Given the description of an element on the screen output the (x, y) to click on. 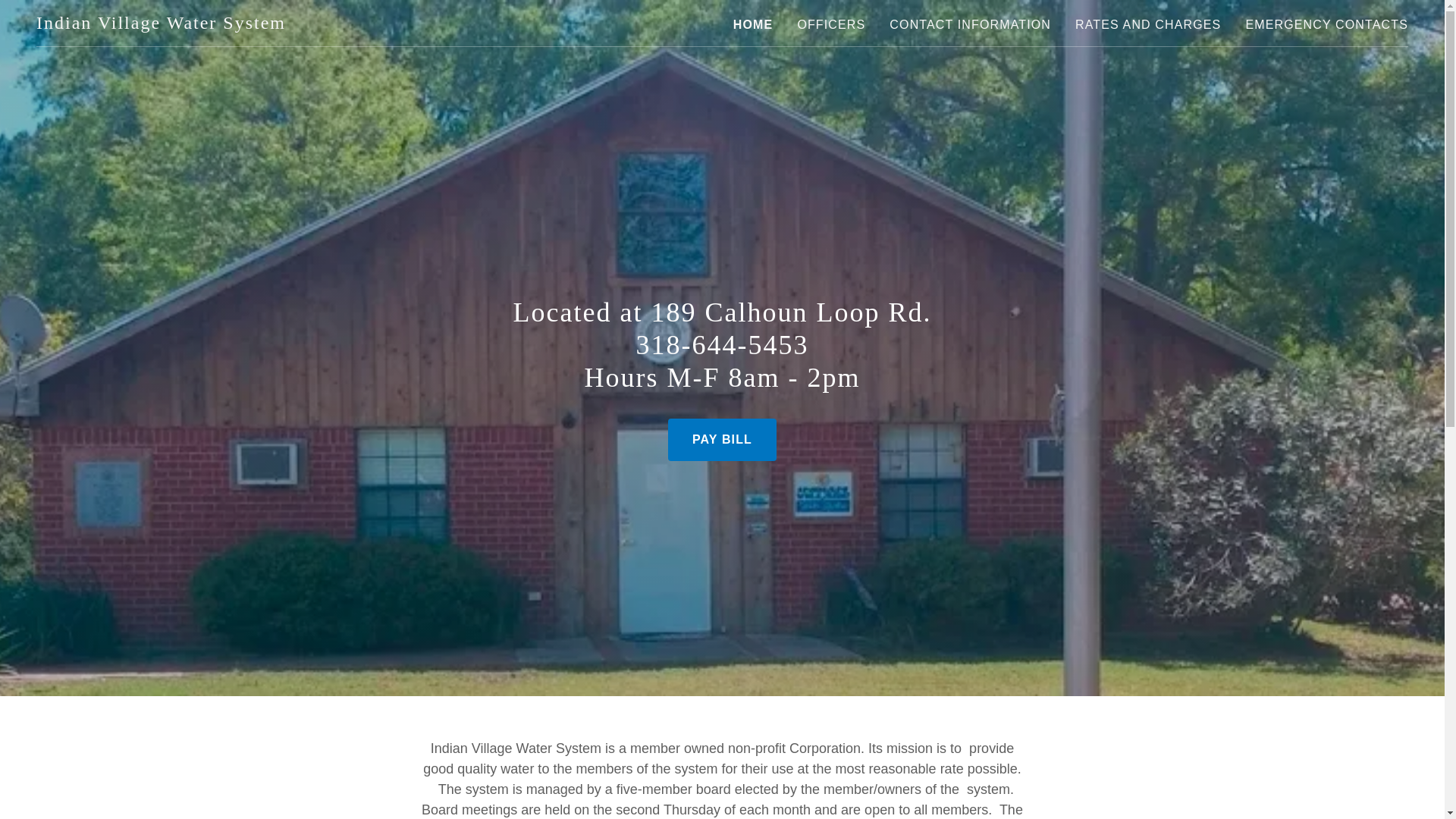
CONTACT INFORMATION (970, 24)
PAY BILL (722, 439)
OFFICERS (830, 24)
EMERGENCY CONTACTS (1326, 24)
RATES AND CHARGES (1147, 24)
HOME (753, 24)
Indian Village Water System (160, 23)
Indian Village Water System (160, 23)
